Given the description of an element on the screen output the (x, y) to click on. 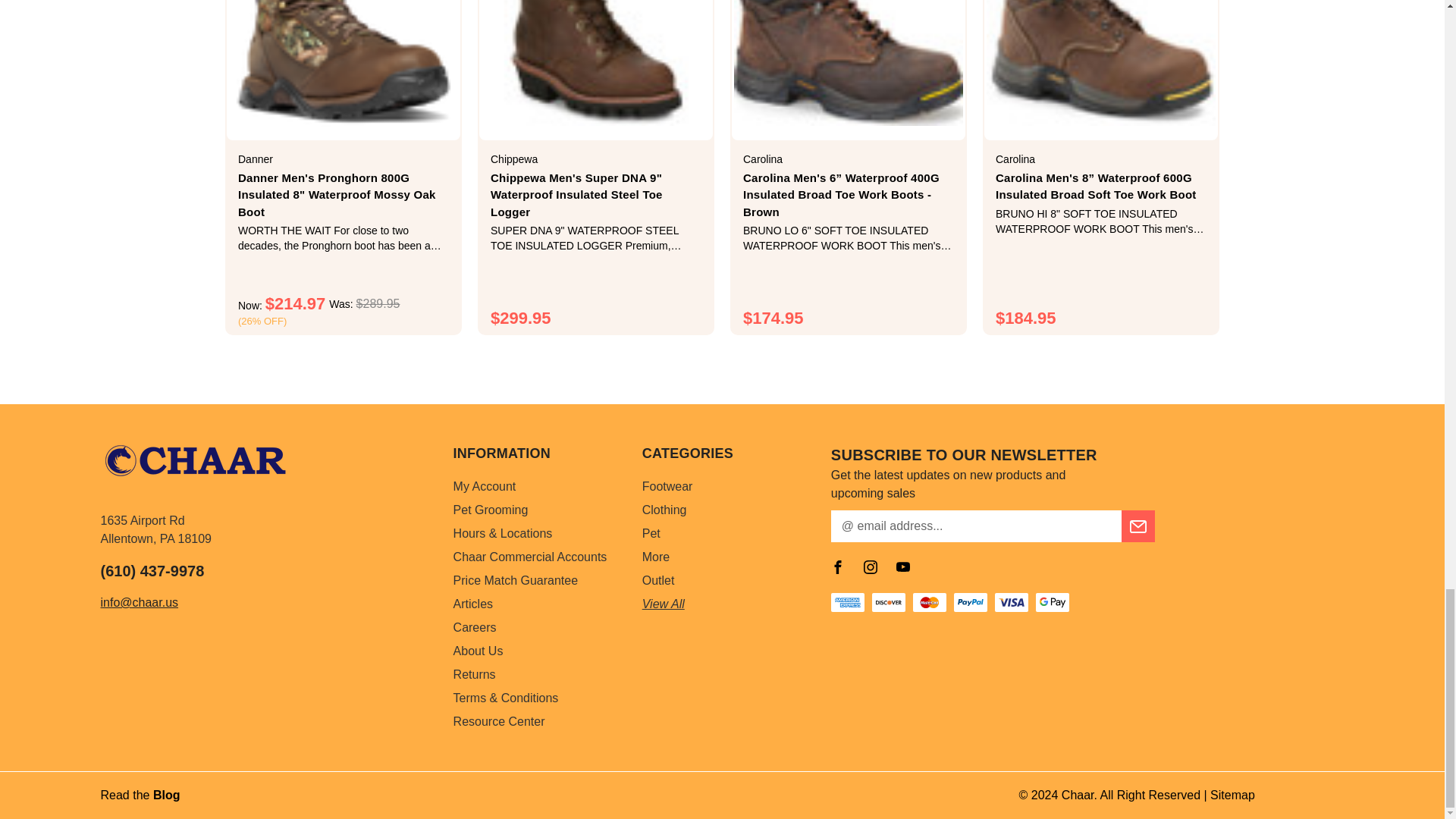
Subscribe (1137, 526)
